Given the description of an element on the screen output the (x, y) to click on. 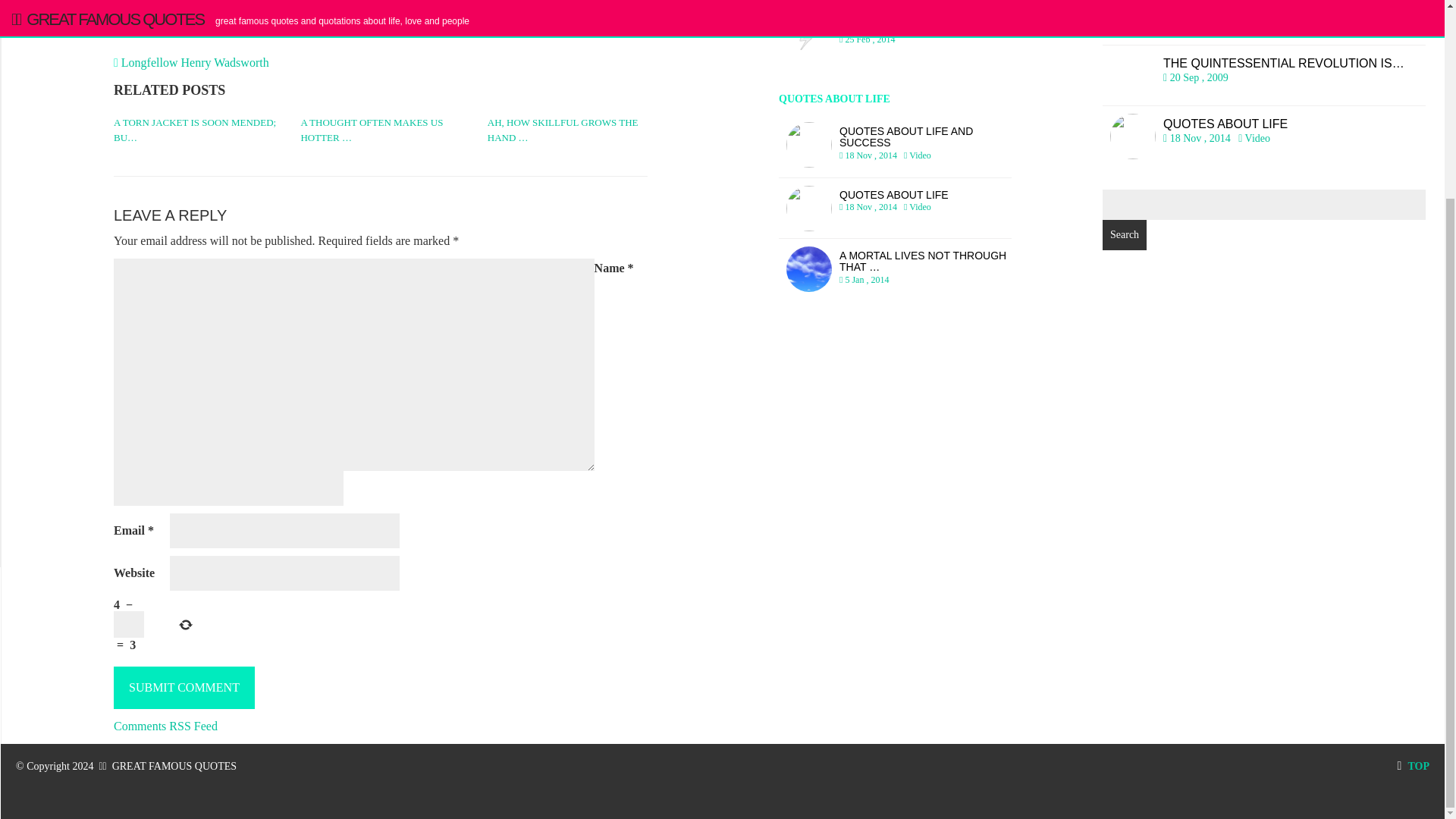
Search (1124, 235)
Longfellow Henry Wadsworth (894, 208)
Submit Comment (1263, 22)
Comments RSS Feed (194, 62)
Submit Comment (183, 686)
Search (164, 725)
